Given the description of an element on the screen output the (x, y) to click on. 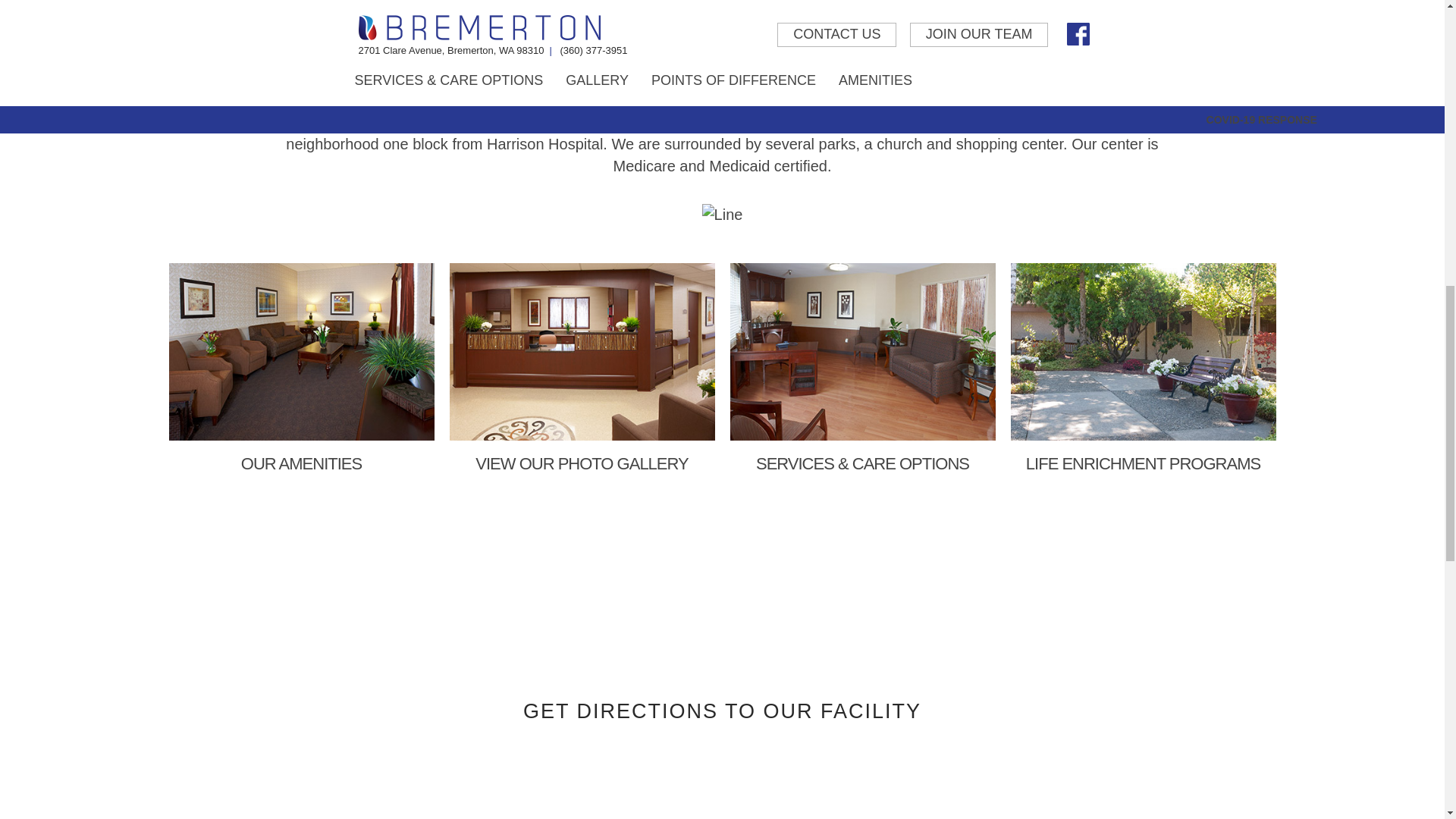
GET DIRECTIONS TO OUR FACILITY (721, 711)
VIEW OUR PHOTO GALLERY (581, 368)
OUR AMENITIES (300, 368)
LIFE ENRICHMENT PROGRAMS (1142, 368)
